Given the description of an element on the screen output the (x, y) to click on. 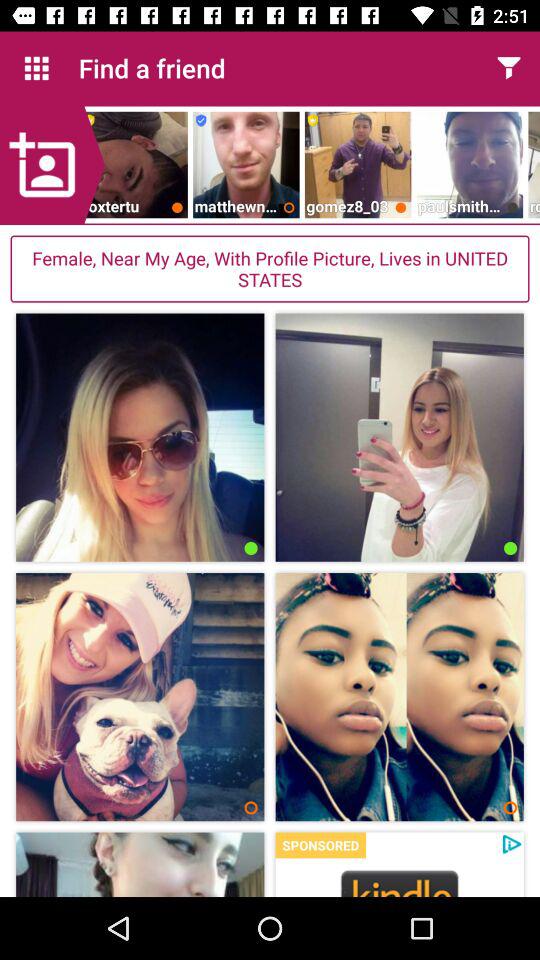
select item to the left of the find a friend (36, 68)
